Given the description of an element on the screen output the (x, y) to click on. 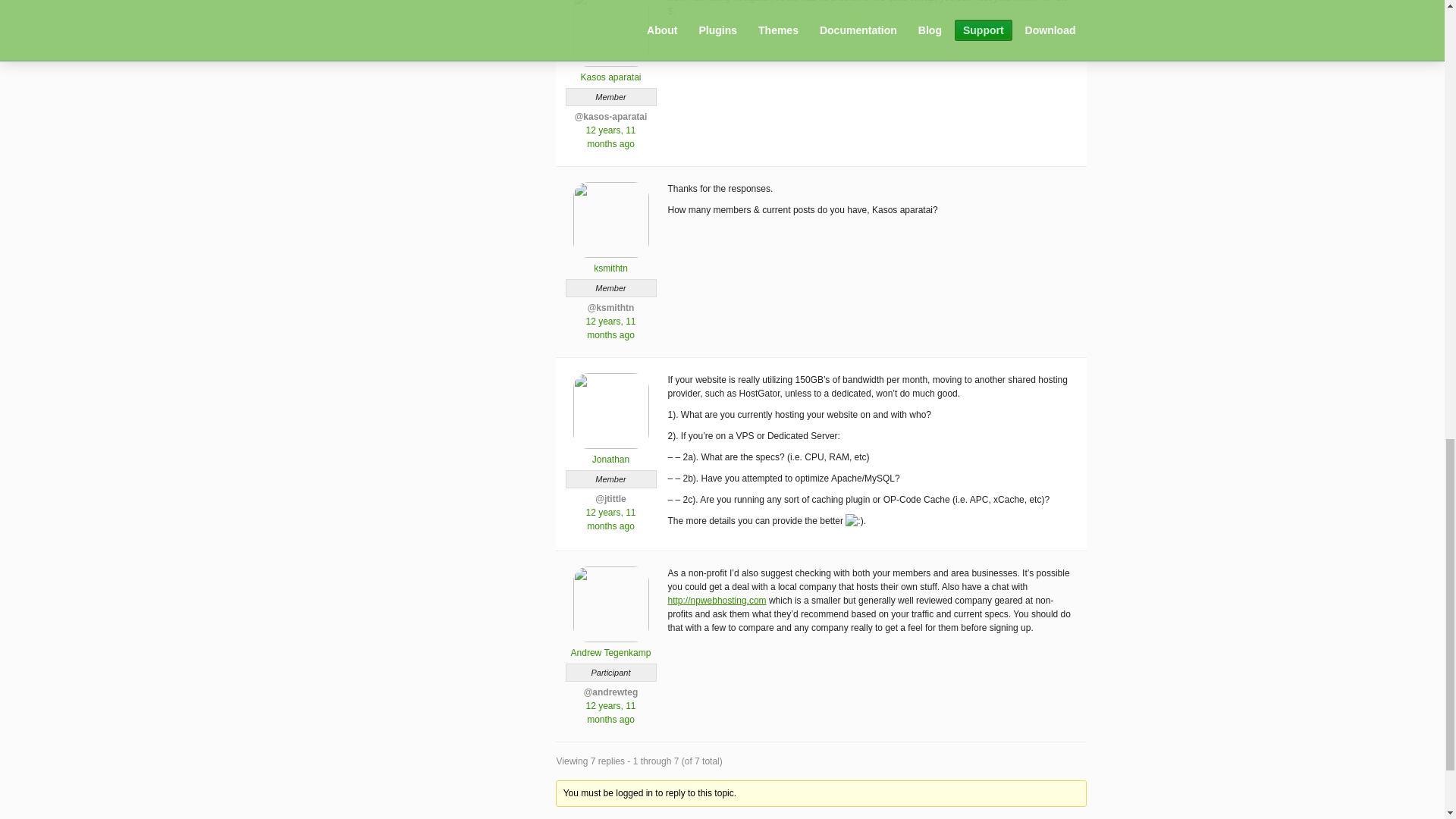
12 years, 11 months ago (609, 518)
12 years, 11 months ago (609, 137)
Kasos aparatai (609, 71)
12 years, 11 months ago (609, 712)
Andrew Tegenkamp (609, 646)
ksmithtn (609, 262)
12 years, 11 months ago (609, 328)
Jonathan (609, 453)
